Given the description of an element on the screen output the (x, y) to click on. 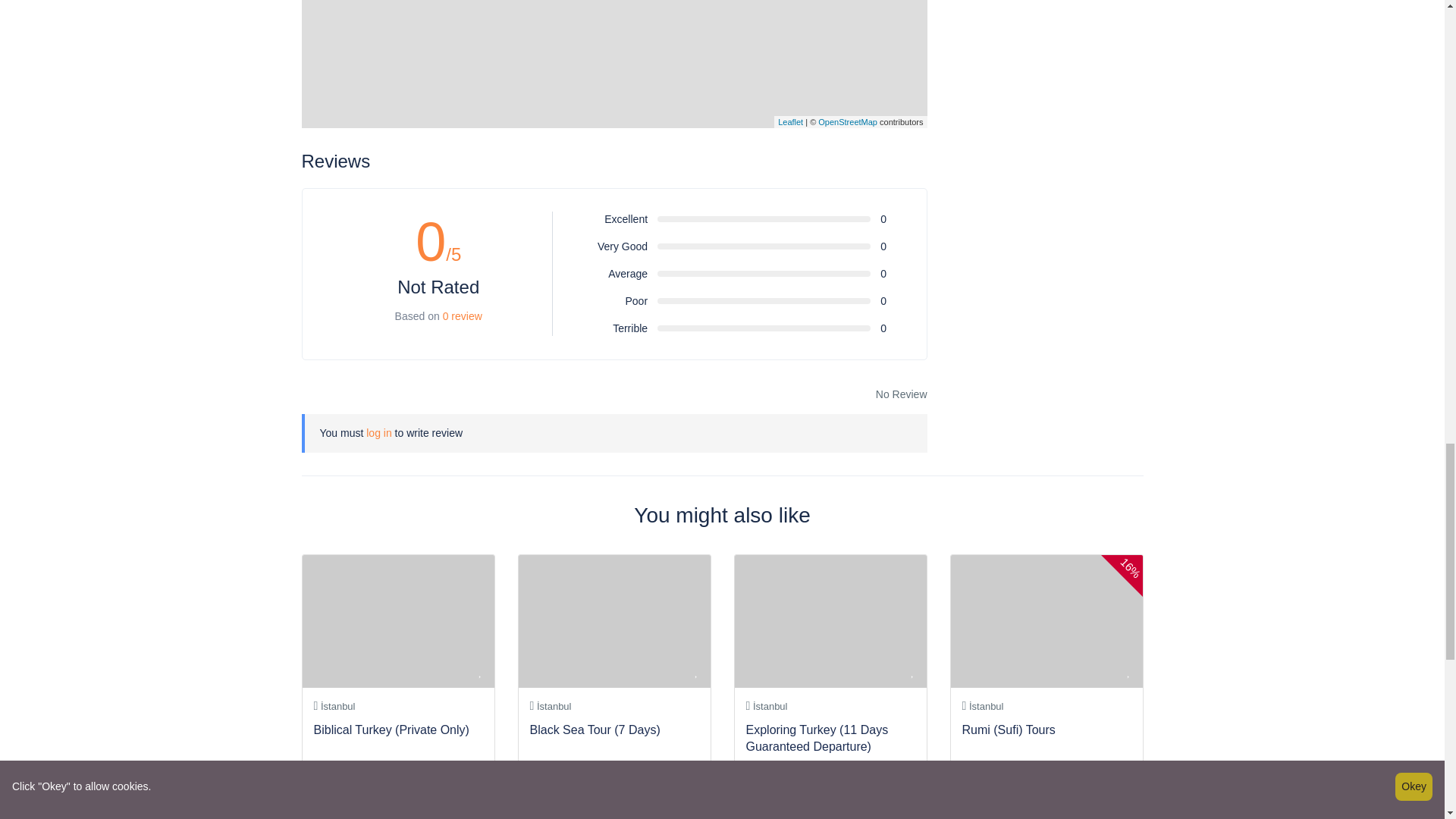
A JS library for interactive maps (790, 121)
